Given the description of an element on the screen output the (x, y) to click on. 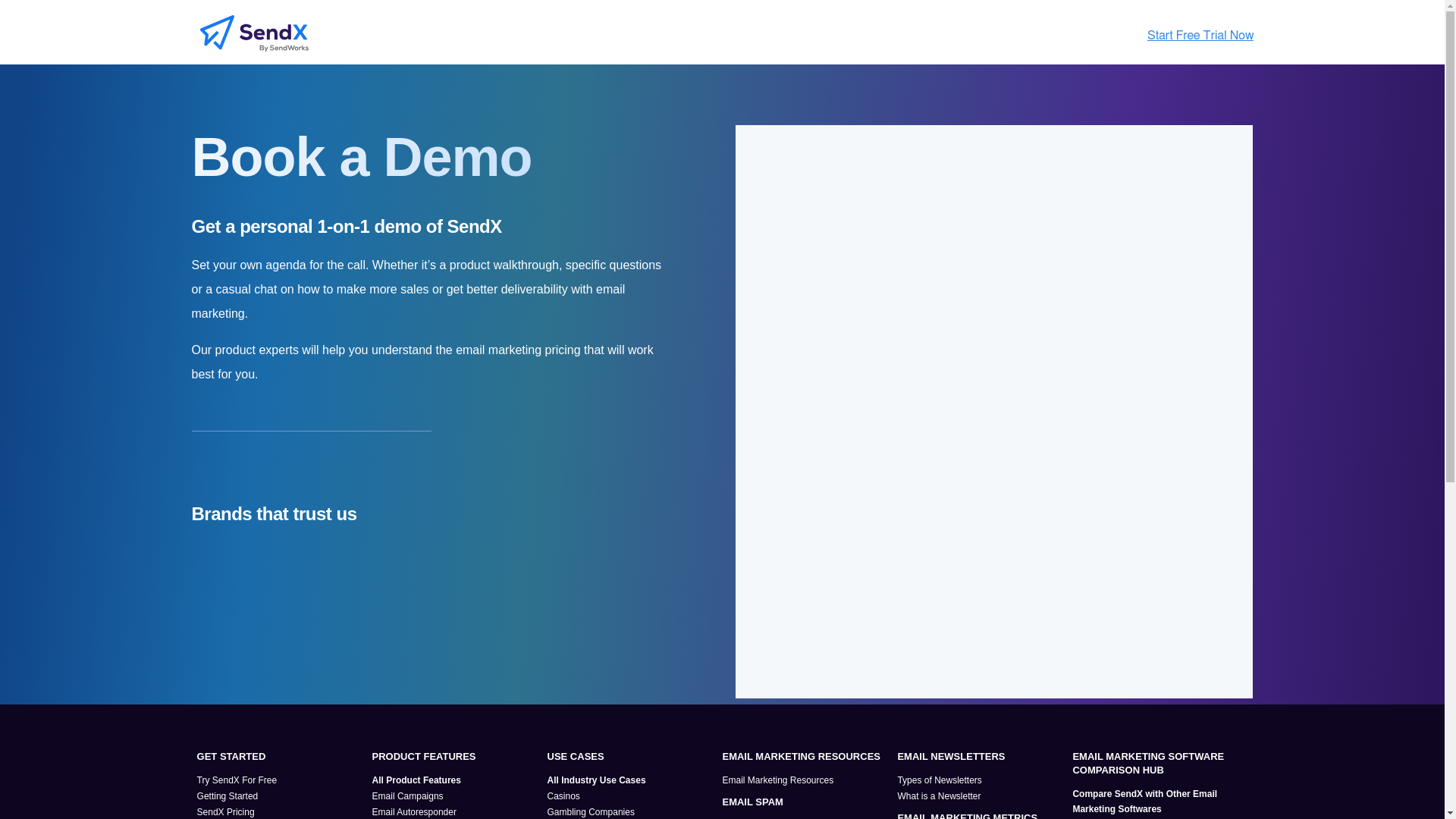
SendX Pricing (279, 811)
Try SendX For Free (279, 780)
PRODUCT FEATURES (456, 756)
Getting Started (279, 795)
All Product Features (454, 780)
GET STARTED (281, 756)
